Given the description of an element on the screen output the (x, y) to click on. 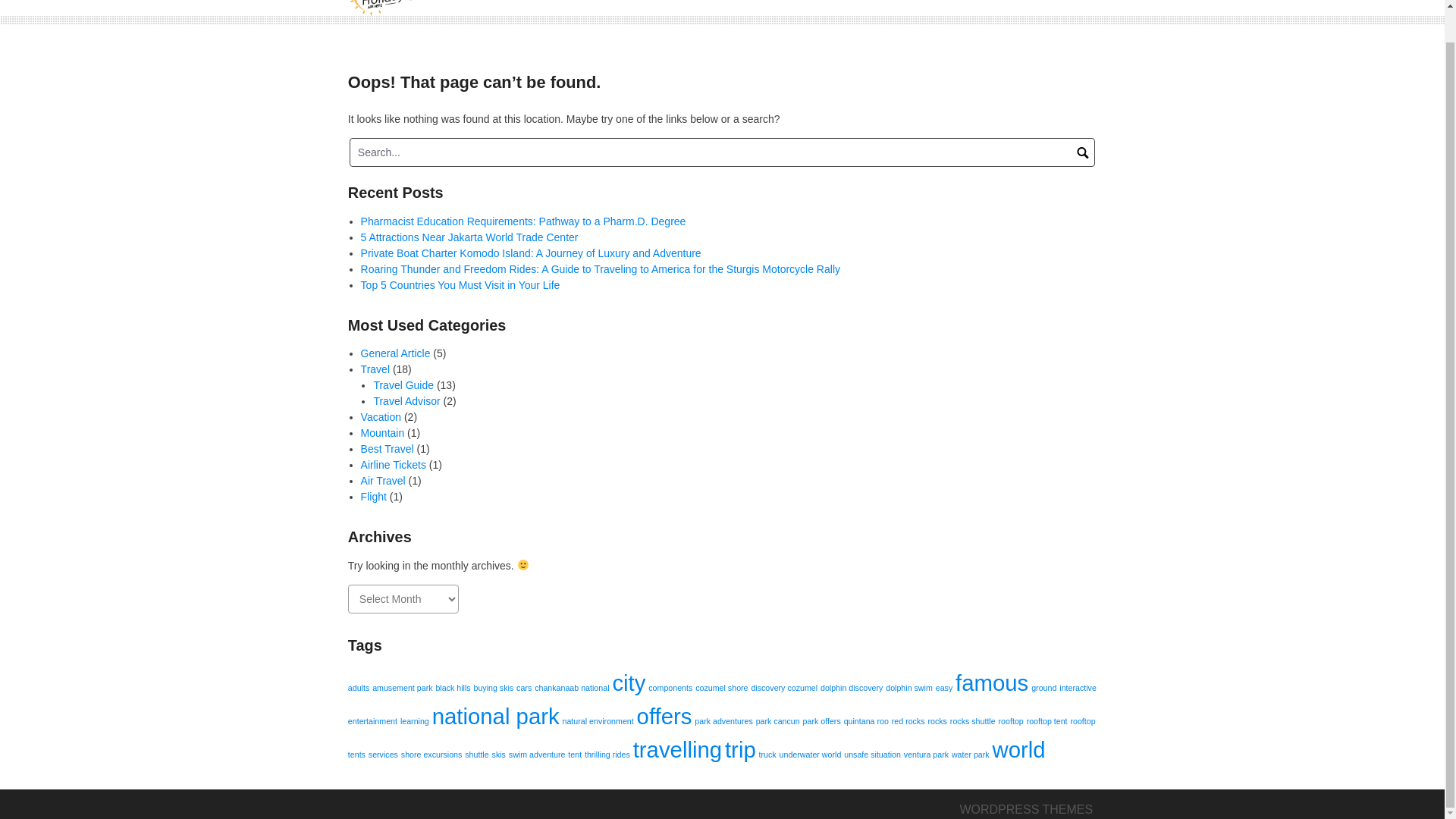
General Article (395, 353)
Travel Guide (402, 385)
Search for: (721, 152)
Top 5 Countries You Must Visit in Your Life (460, 285)
5 Attractions Near Jakarta World Trade Center (469, 236)
Travel (375, 369)
